Given the description of an element on the screen output the (x, y) to click on. 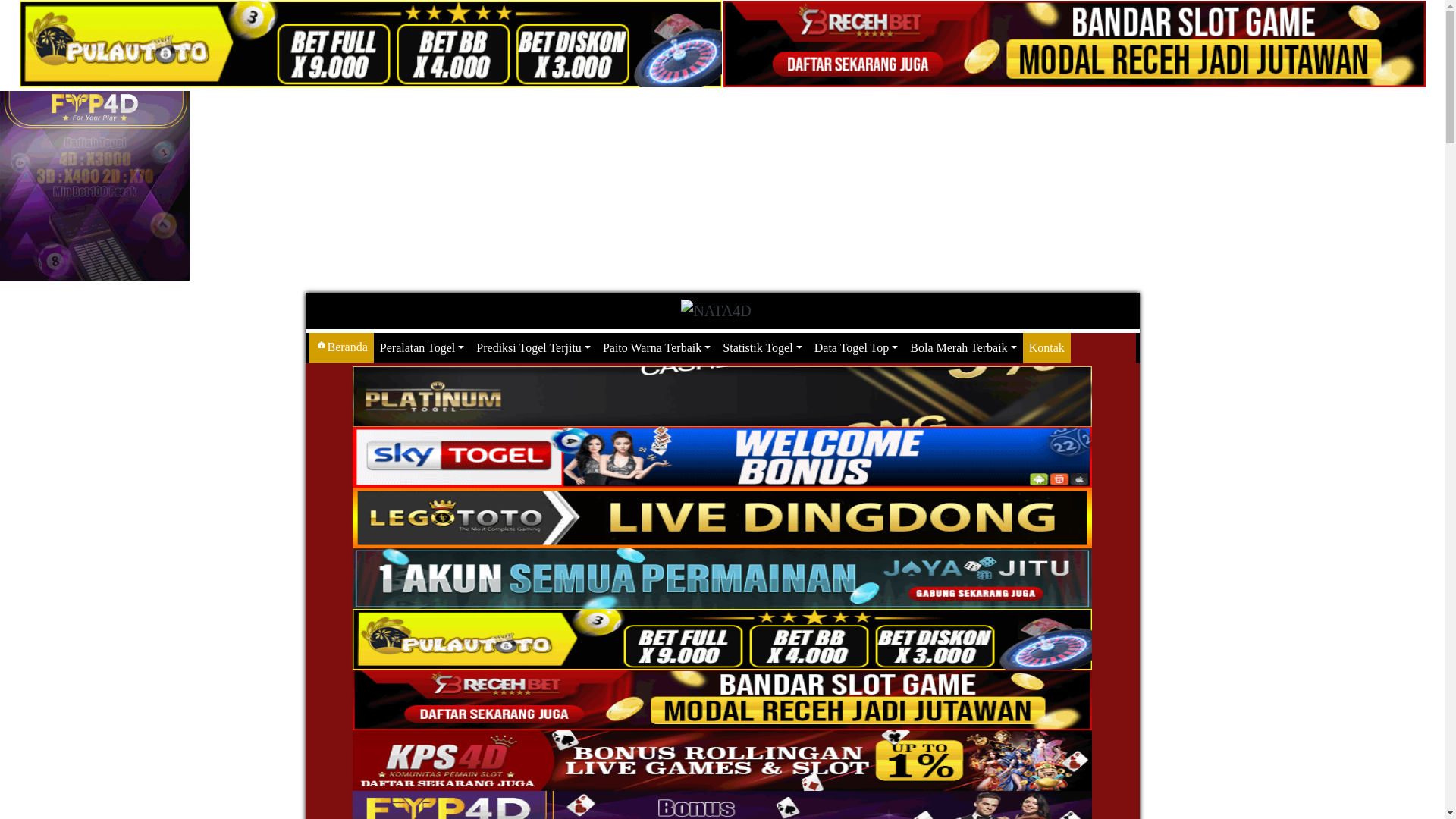
Daftar Pulautoto Element type: hover (722, 637)
Peralatan Togel Element type: text (421, 347)
Daftar Recehbet Element type: hover (1073, 43)
Daftar Pulautoto Element type: hover (369, 43)
Prediksi Togel Terjitu Element type: text (533, 347)
Daftar Kps4d Element type: hover (722, 759)
Beranda Element type: text (341, 347)
Kontak Element type: text (1046, 347)
Daftar Skytogel Element type: hover (722, 455)
Daftar Recehbet Element type: hover (722, 698)
Statistik Togel Element type: text (761, 347)
Bola Merah Terbaik Element type: text (962, 347)
Daftar Legototo Element type: hover (722, 516)
Daftar Jayajitu Element type: hover (722, 577)
Daftar Platinumtoto Element type: hover (722, 395)
DAFTAR FYP4D Element type: hover (94, 185)
Data Togel Top Element type: text (856, 347)
Paito Warna Terbaik Element type: text (656, 347)
